Given the description of an element on the screen output the (x, y) to click on. 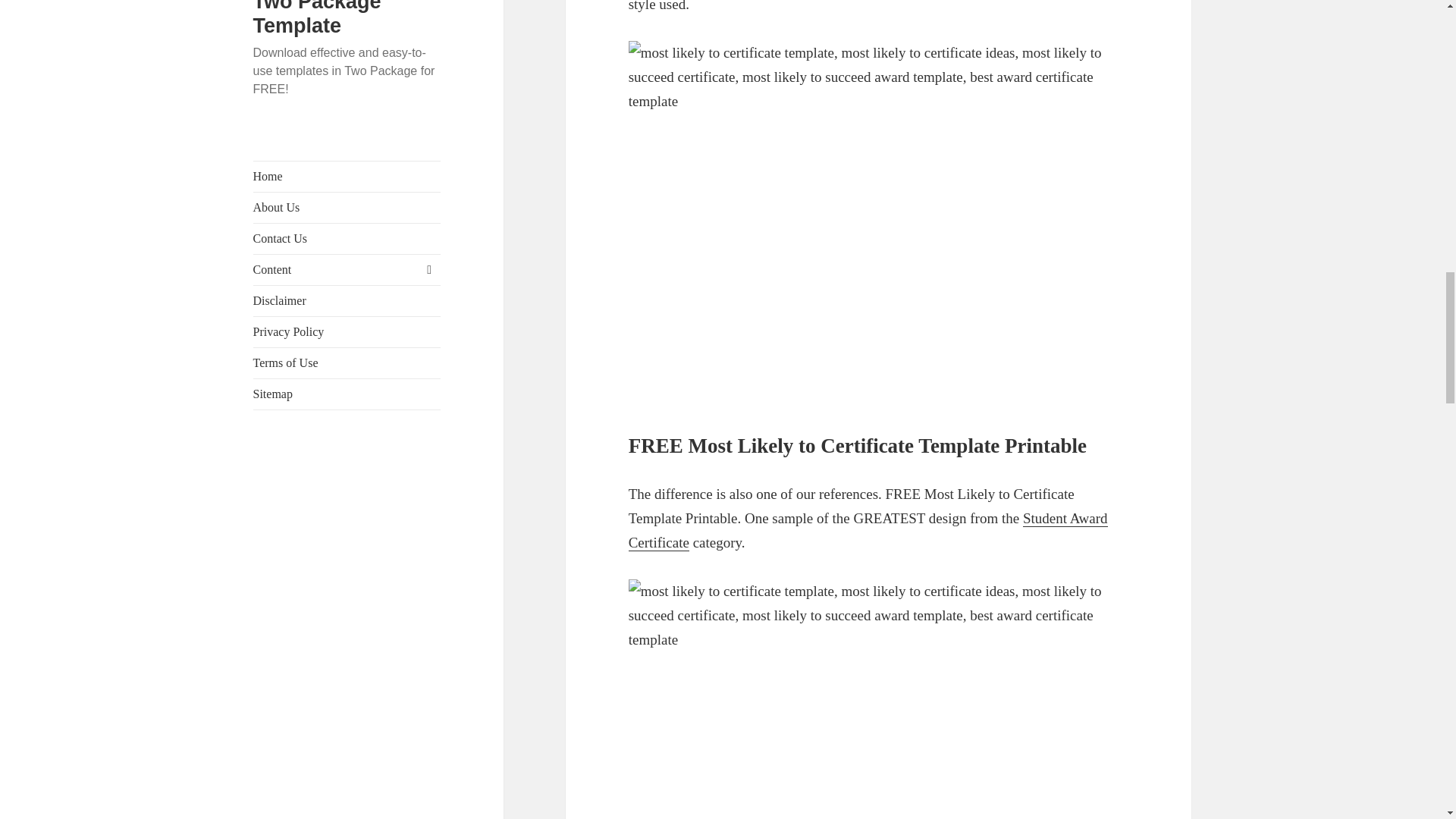
Student Award Certificate (868, 530)
